Given the description of an element on the screen output the (x, y) to click on. 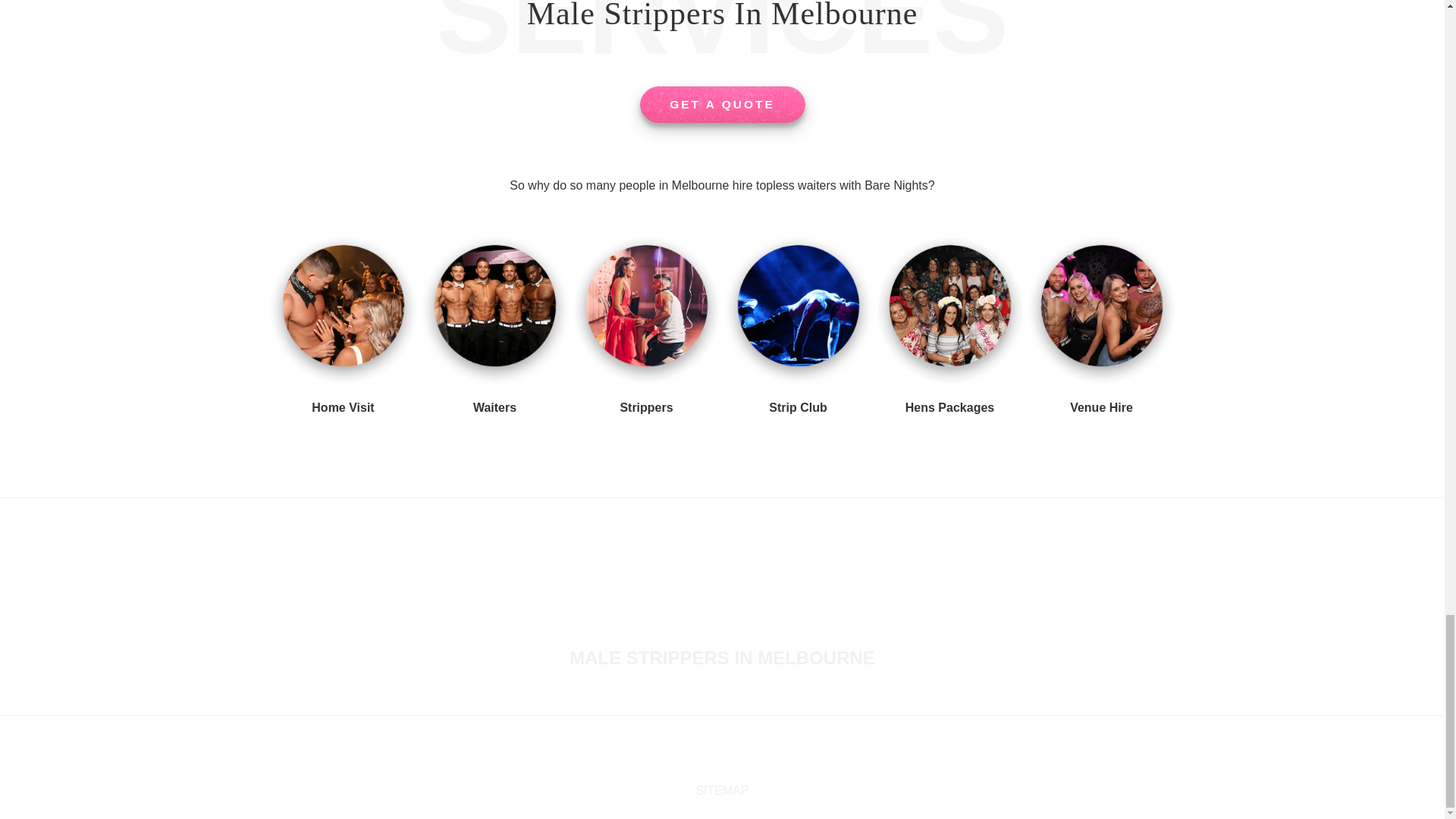
SITEMAP (721, 789)
Email to a Friend (745, 758)
GET A QUOTE (722, 103)
Venue Hire (1101, 407)
Share on Facebook (697, 758)
Home Visit (342, 407)
Hens Packages (949, 407)
